Given the description of an element on the screen output the (x, y) to click on. 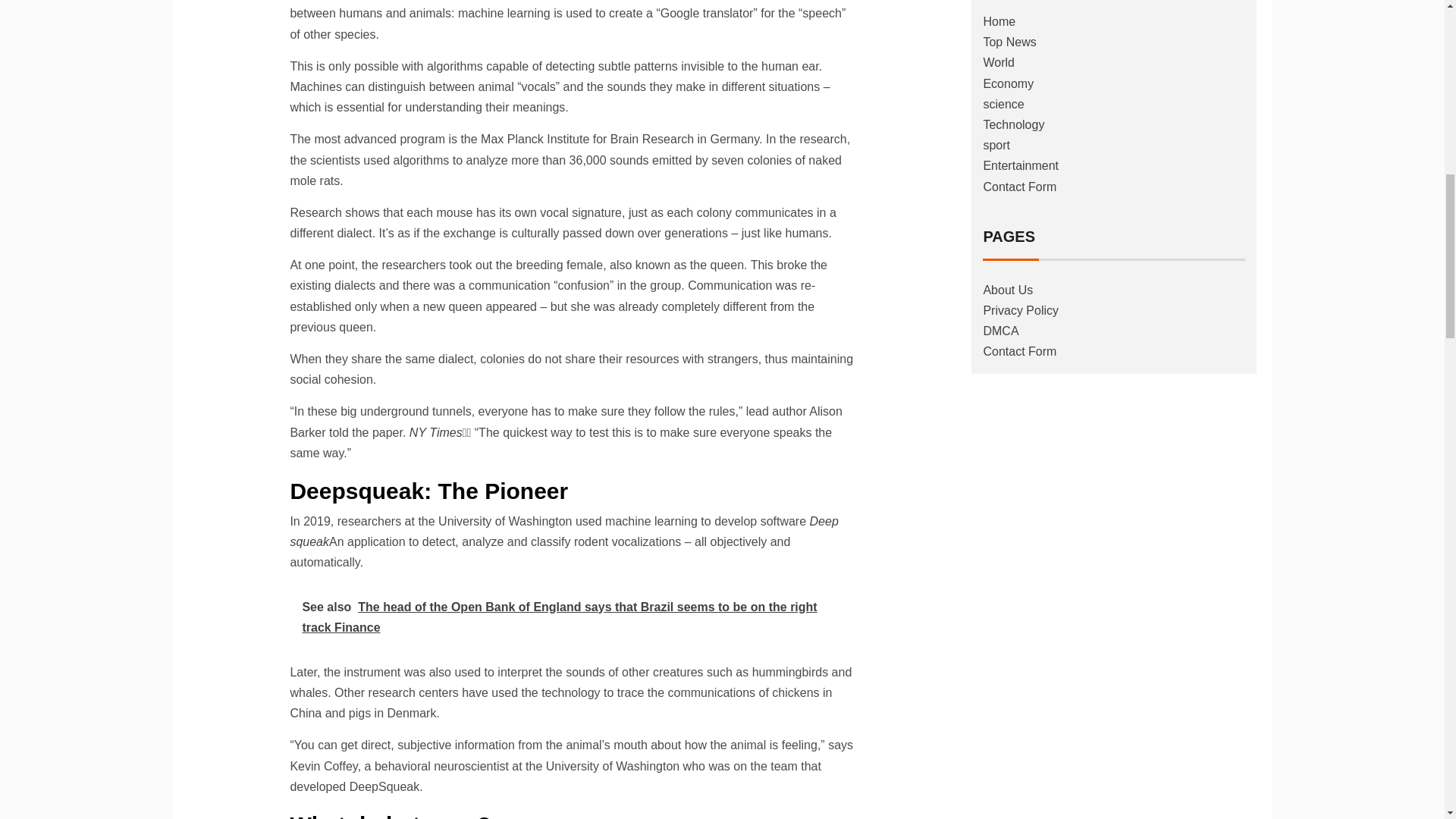
NY Times (436, 431)
Deep squeak (563, 531)
